Given the description of an element on the screen output the (x, y) to click on. 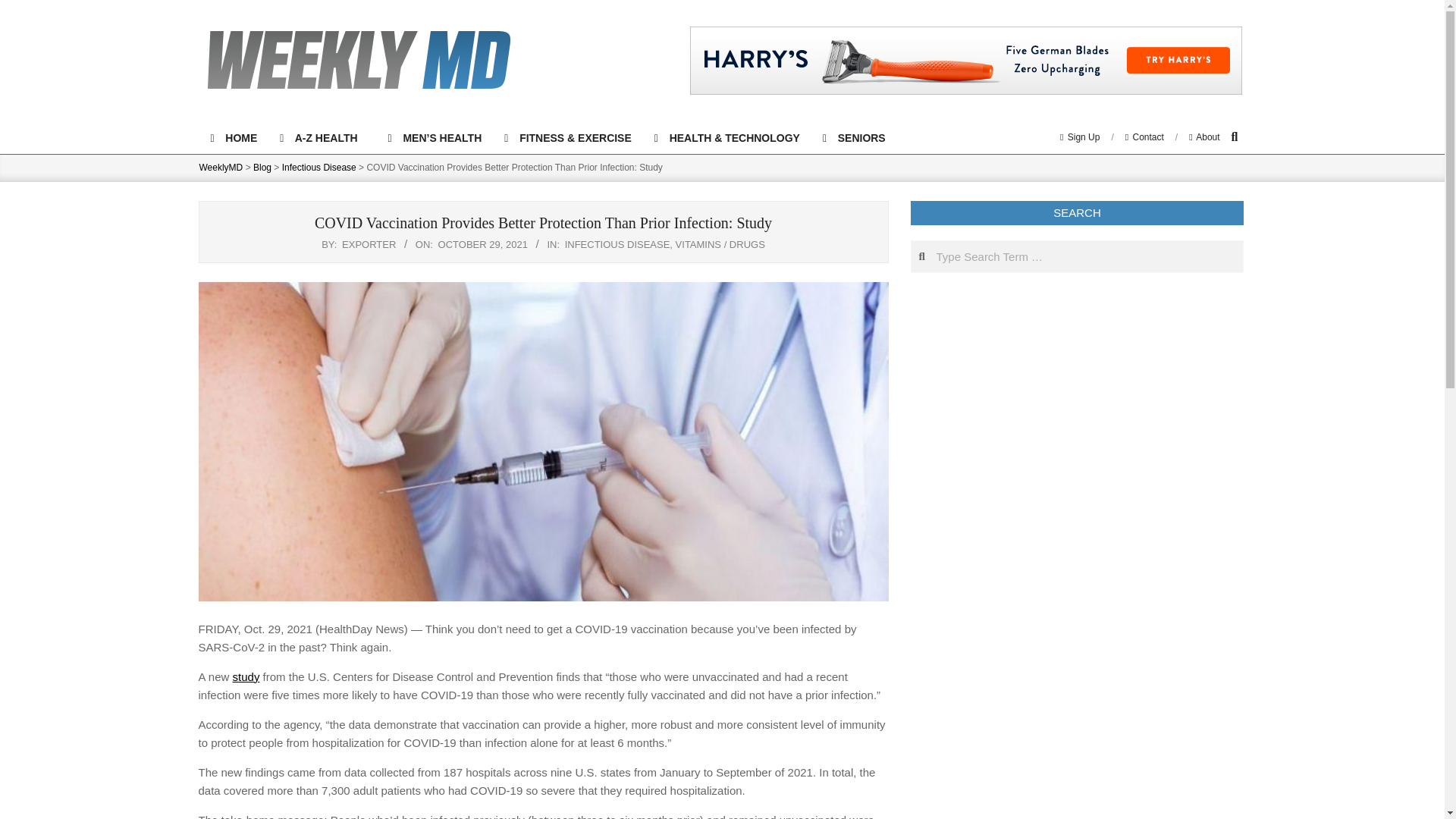
Go to the Infectious Disease category archives. (319, 167)
Posts by Exporter (369, 244)
A-Z HEALTH (321, 138)
Friday, October 29, 2021, 6:02 pm (482, 244)
Go to Blog. (261, 167)
Go to WeeklyMD. (220, 167)
HOME (232, 138)
A-Z HEALTH (321, 138)
